Given the description of an element on the screen output the (x, y) to click on. 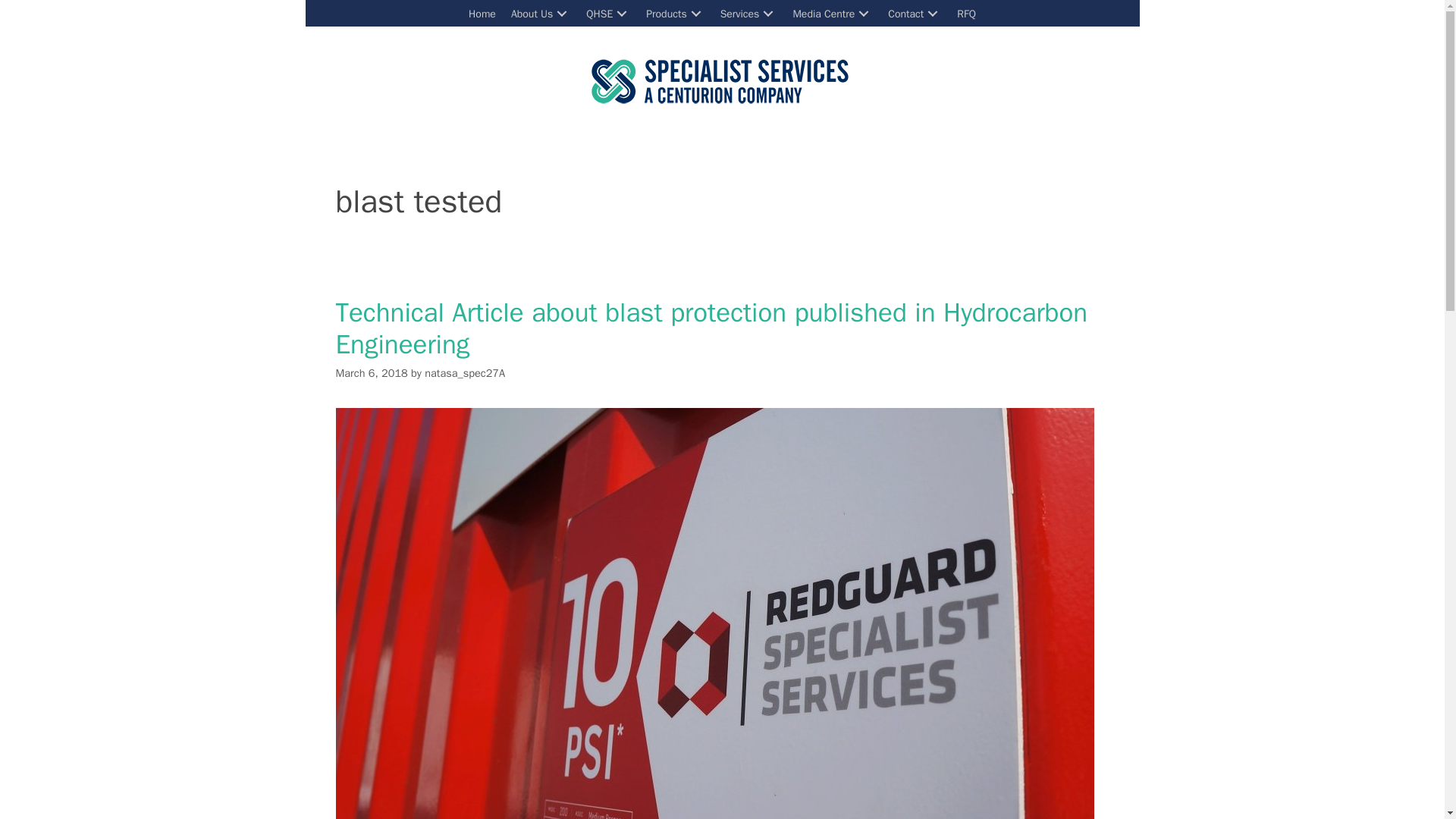
Home (482, 13)
SpecServe-RGB-Logo350px (722, 81)
About Us (540, 13)
Products (675, 13)
Services (749, 13)
QHSE (608, 13)
